Given the description of an element on the screen output the (x, y) to click on. 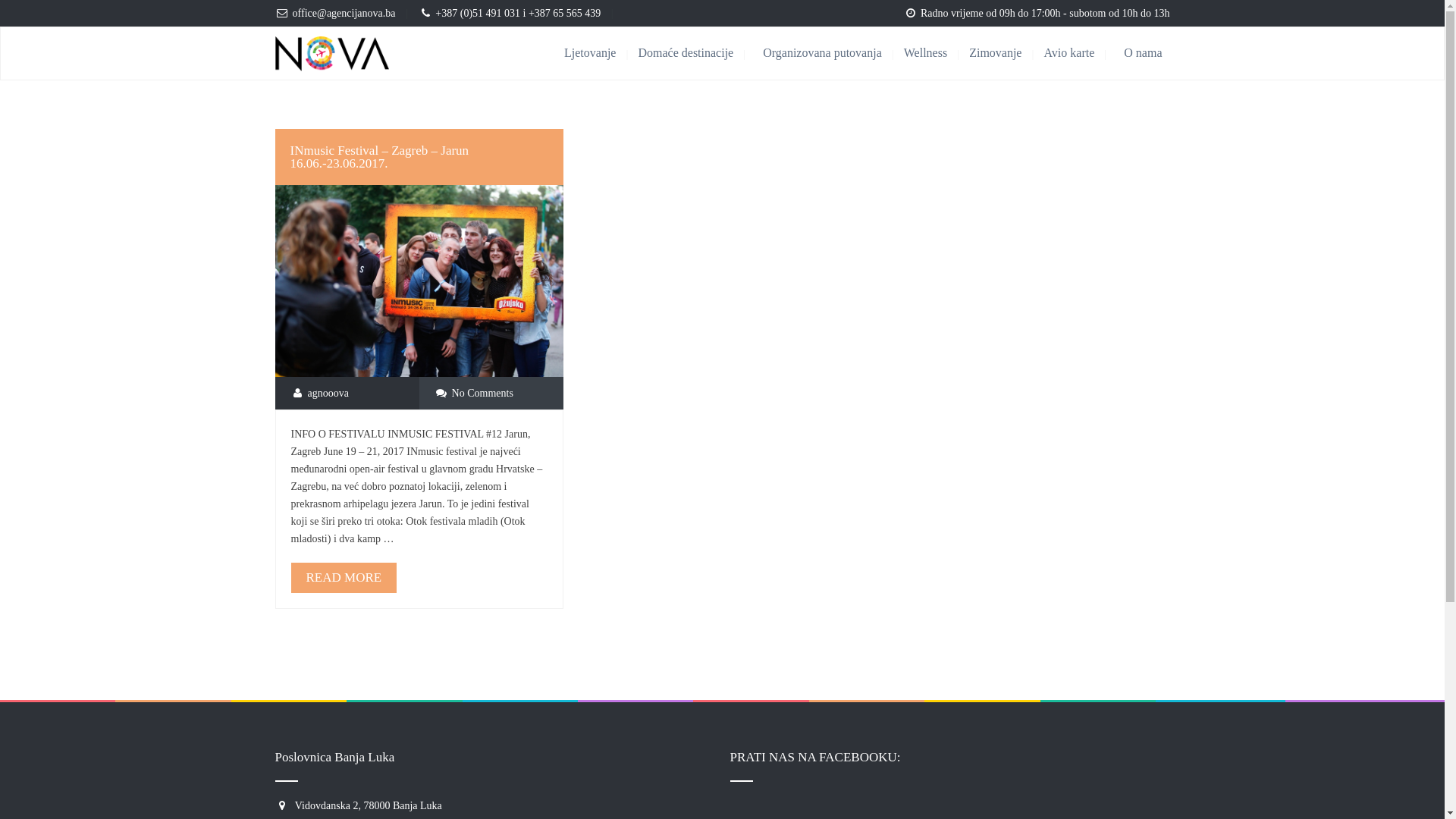
office@agencijanova.ba Element type: text (343, 12)
+387 (0)51 491 031 i +387 65 565 439 Element type: text (517, 12)
Wellness Element type: text (936, 53)
READ MORE Element type: text (344, 577)
O nama Element type: text (1142, 52)
Organizovana putovanja Element type: text (832, 53)
Zimovanje Element type: text (1006, 53)
Ljetovanje Element type: text (600, 53)
Avio karte Element type: text (1079, 53)
